Given the description of an element on the screen output the (x, y) to click on. 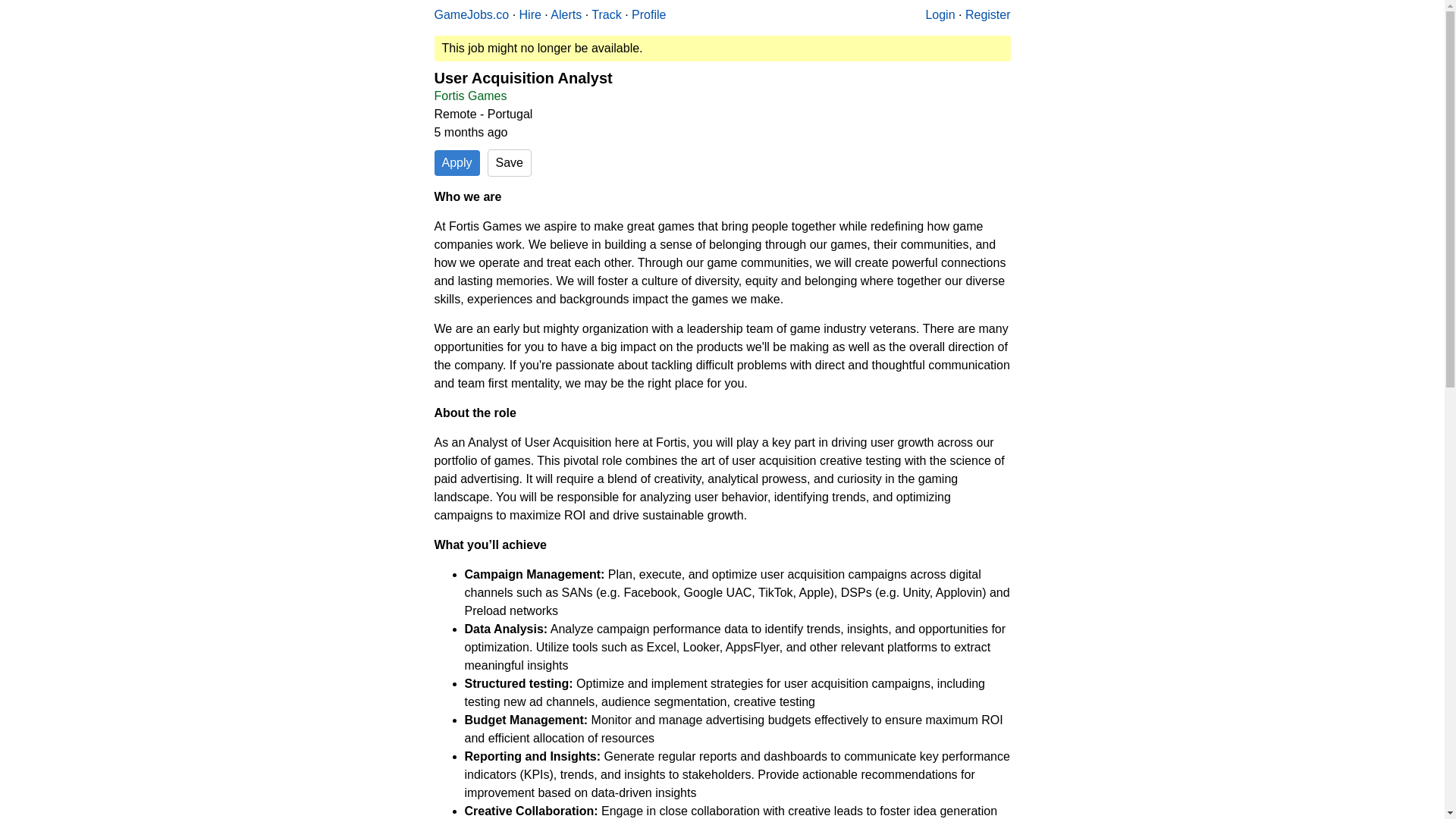
Fortis Games (469, 95)
GameJobs.co (470, 14)
Remote - Portugal (482, 113)
Alerts (565, 14)
Apply (456, 162)
Hire (530, 14)
Save (509, 162)
